Given the description of an element on the screen output the (x, y) to click on. 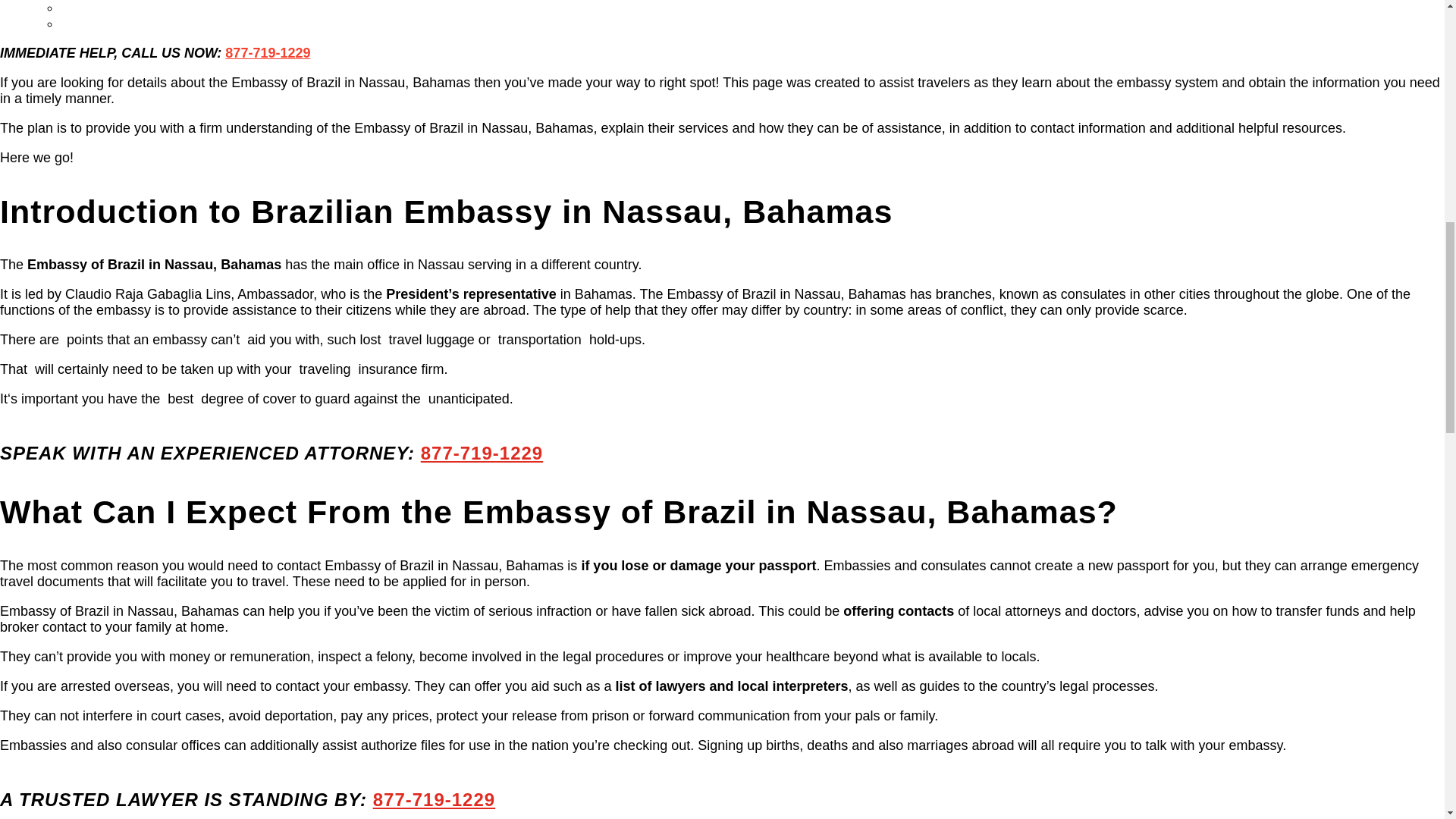
877-719-1229 (481, 453)
877-719-1229 (267, 52)
877-719-1229 (433, 799)
